Given the description of an element on the screen output the (x, y) to click on. 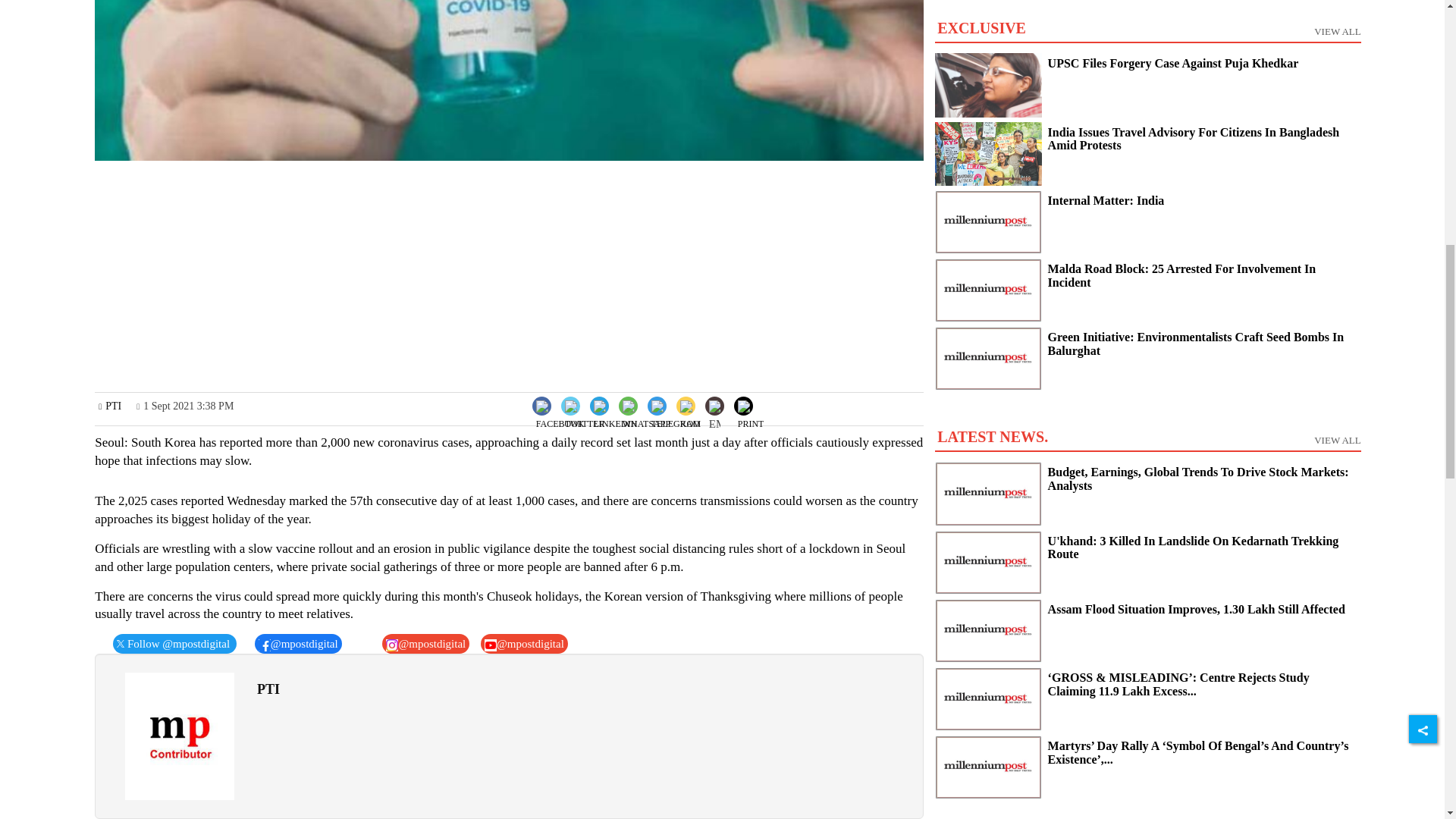
linkedin (615, 417)
whatsapp (646, 417)
telegram (675, 417)
Facebook (560, 404)
Twitter (584, 404)
facebook (560, 417)
LinkedIn (614, 404)
Share by Email (713, 408)
twitter (584, 417)
S Korea tops 1,000 cases for 57th straight day (508, 80)
